Given the description of an element on the screen output the (x, y) to click on. 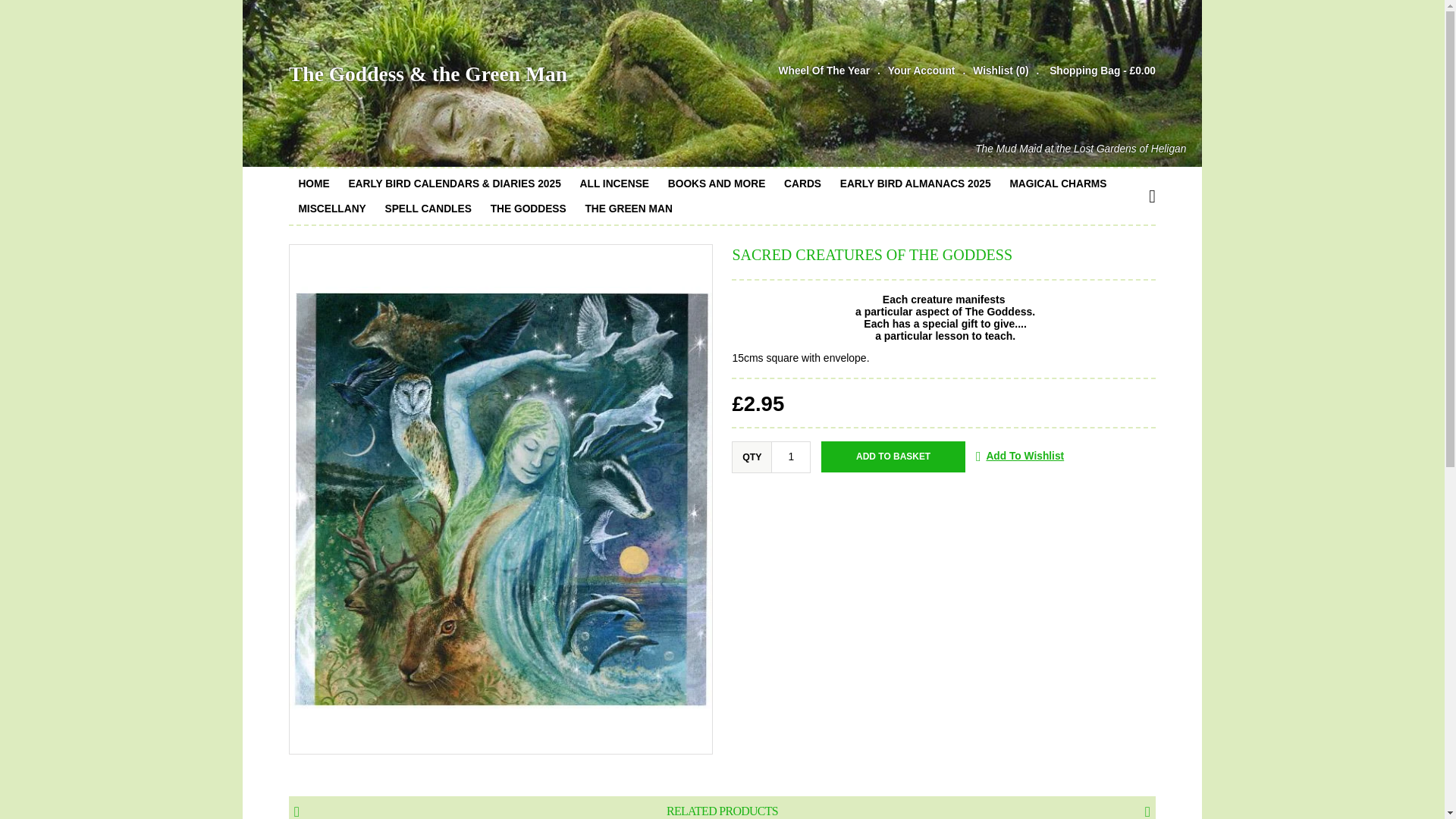
Your Account (912, 70)
1 (790, 457)
Wheel Of The Year (823, 70)
